Given the description of an element on the screen output the (x, y) to click on. 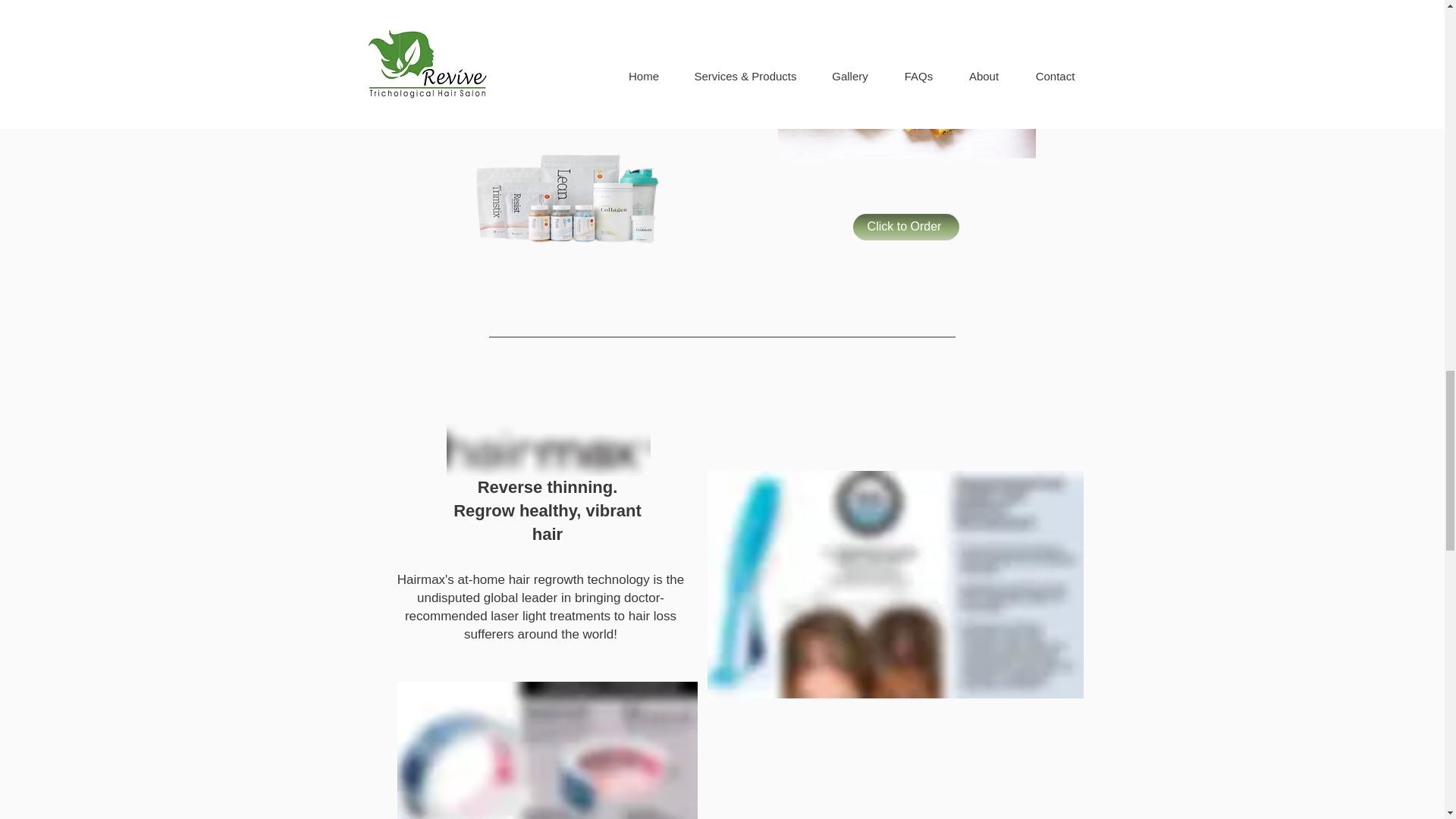
XyngularProducts (565, 200)
Click to Order (904, 226)
Things needed for weight los (906, 79)
Things needed for weight los (894, 584)
